Given the description of an element on the screen output the (x, y) to click on. 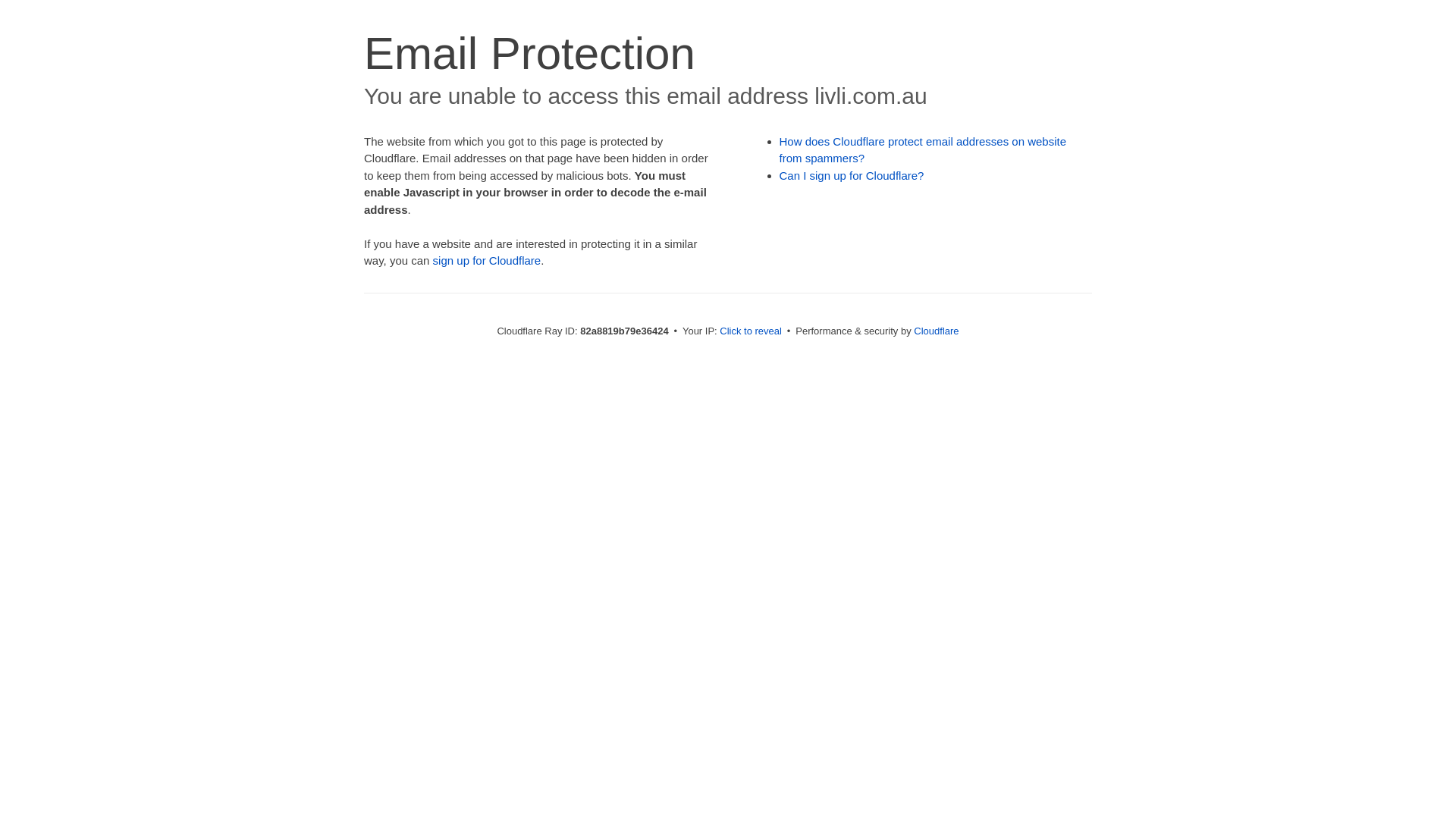
Can I sign up for Cloudflare? Element type: text (851, 175)
Click to reveal Element type: text (750, 330)
Cloudflare Element type: text (935, 330)
sign up for Cloudflare Element type: text (487, 260)
